Given the description of an element on the screen output the (x, y) to click on. 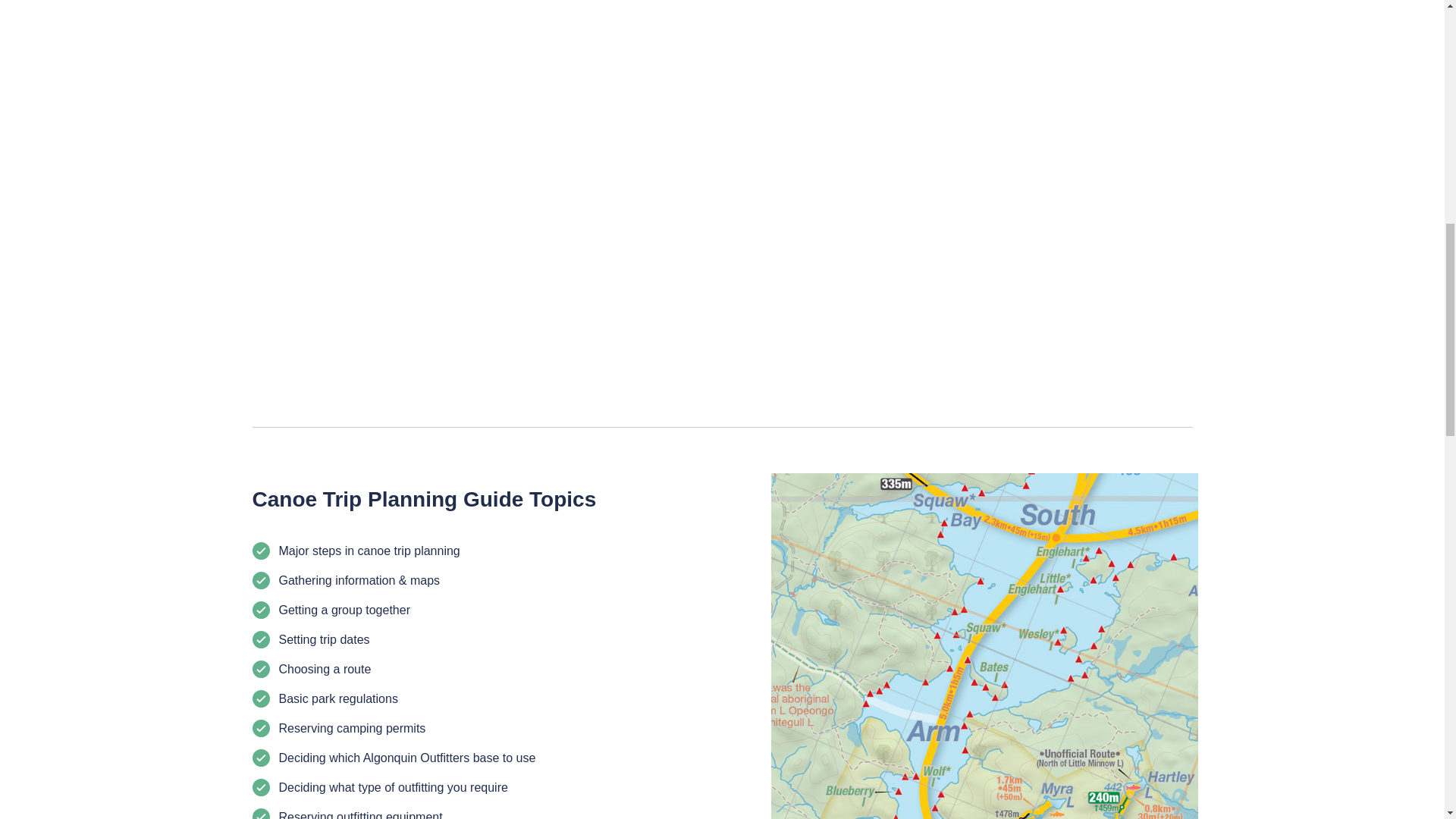
FareHarbor (1342, 64)
